Given the description of an element on the screen output the (x, y) to click on. 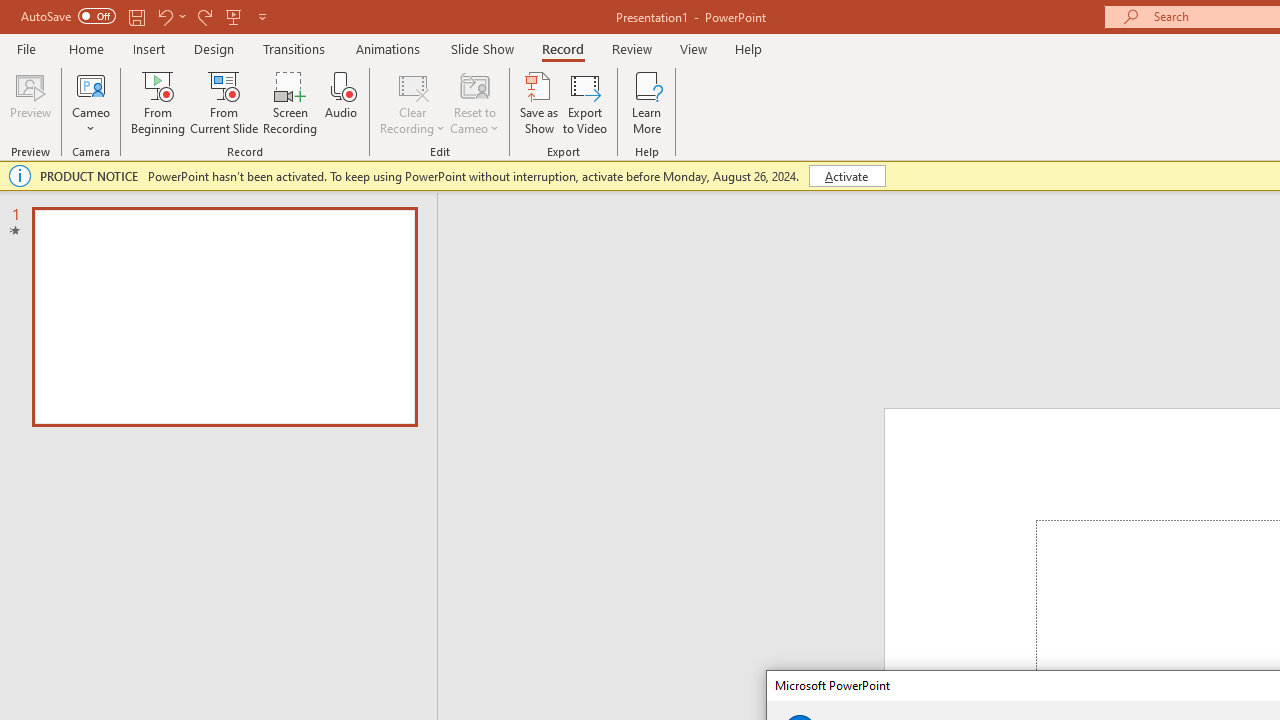
Activate (846, 175)
